Given the description of an element on the screen output the (x, y) to click on. 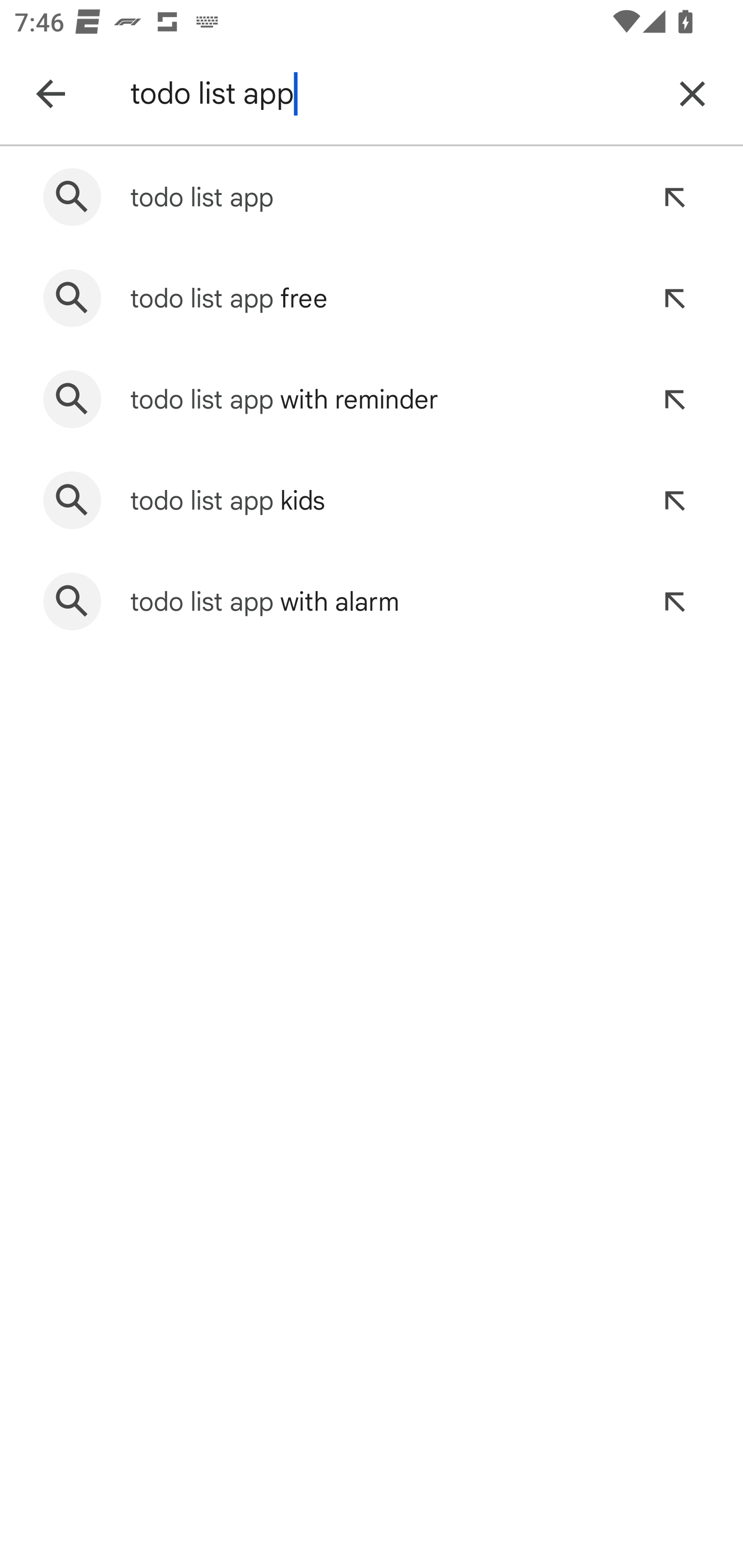
Navigate up (50, 93)
todo list app (389, 93)
Clear (692, 93)
Refine search to "todo list app" (673, 196)
Refine search to "todo list app free" (673, 297)
Refine search to "todo list app with reminder" (673, 399)
Refine search to "todo list app kids" (673, 500)
Refine search to "todo list app with alarm" (673, 601)
